Given the description of an element on the screen output the (x, y) to click on. 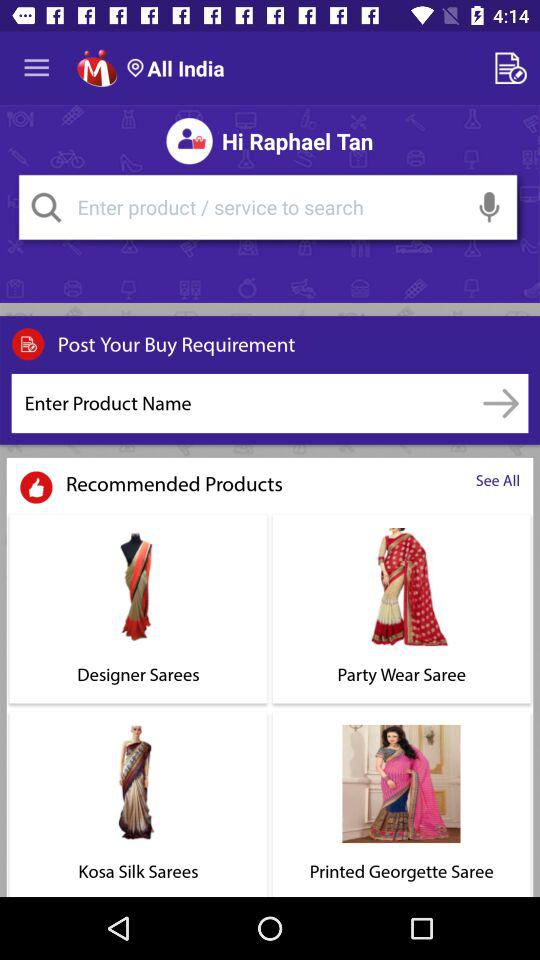
click on the note icon right side of india (514, 67)
select the image above printed georgette saree (401, 783)
select the image which is above designer sarees (137, 587)
select the option which says all india (175, 67)
select the arrow after the text enter product name (501, 403)
select the box which is below the post your buy requirement (242, 403)
click on the option kosa silk sarees (138, 802)
